Given the description of an element on the screen output the (x, y) to click on. 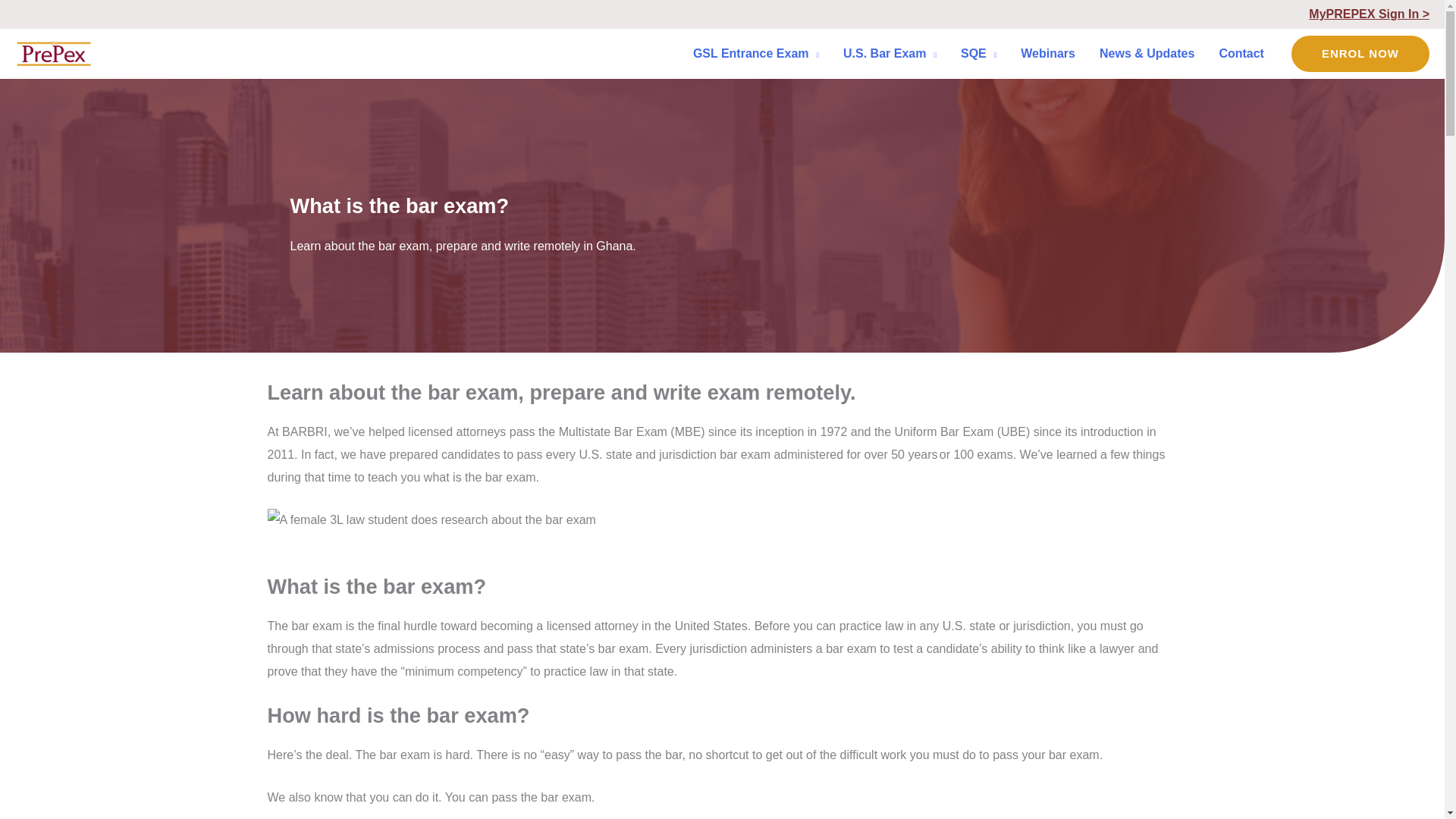
GSL Entrance Exam (756, 53)
about-bar-5-1 (430, 519)
ENROL NOW (1360, 54)
Webinars (1048, 53)
SQE (979, 53)
U.S. Bar Exam (890, 53)
Contact (1241, 53)
